Given the description of an element on the screen output the (x, y) to click on. 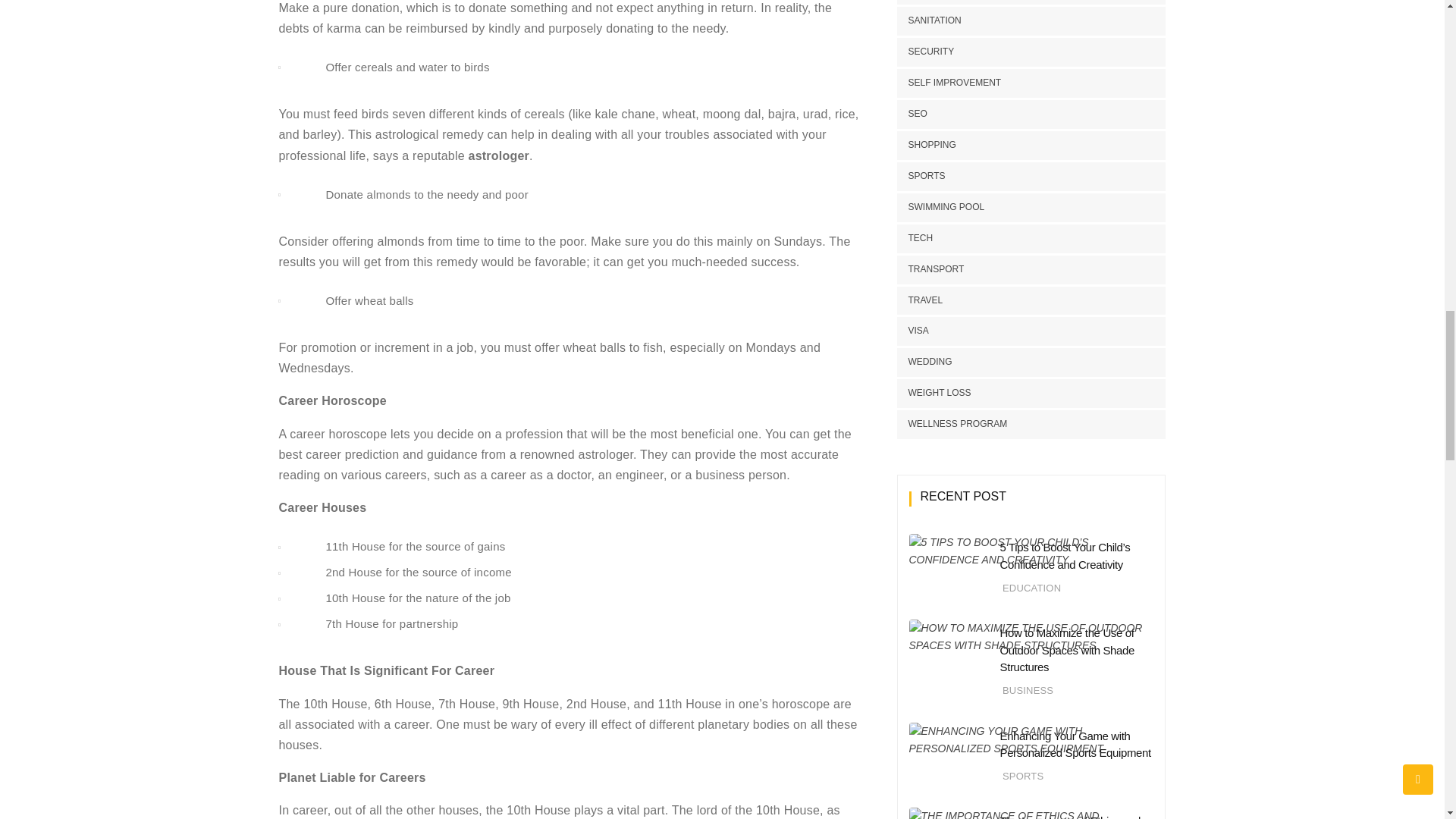
Enhancing Your Game with Personalized Sports Equipment (1074, 744)
The Importance of Ethics and Accuracy in Sports Broadcasting (1069, 816)
